Given the description of an element on the screen output the (x, y) to click on. 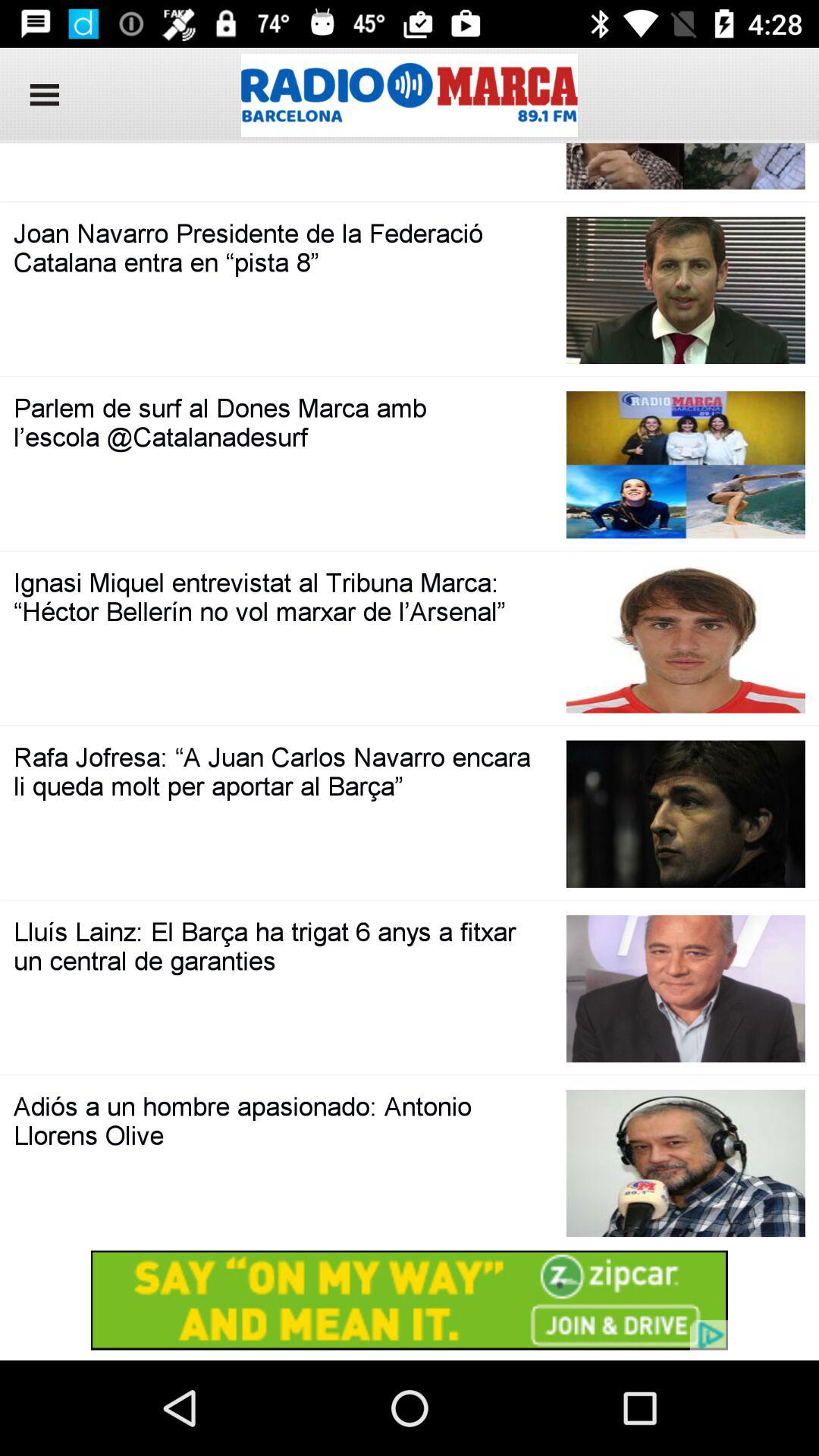
select the image beside parlem de surf al dones marca amb iescola catalanadesurf (685, 464)
select the second image in the row (685, 290)
click on icon at the top left corner (39, 95)
